Given the description of an element on the screen output the (x, y) to click on. 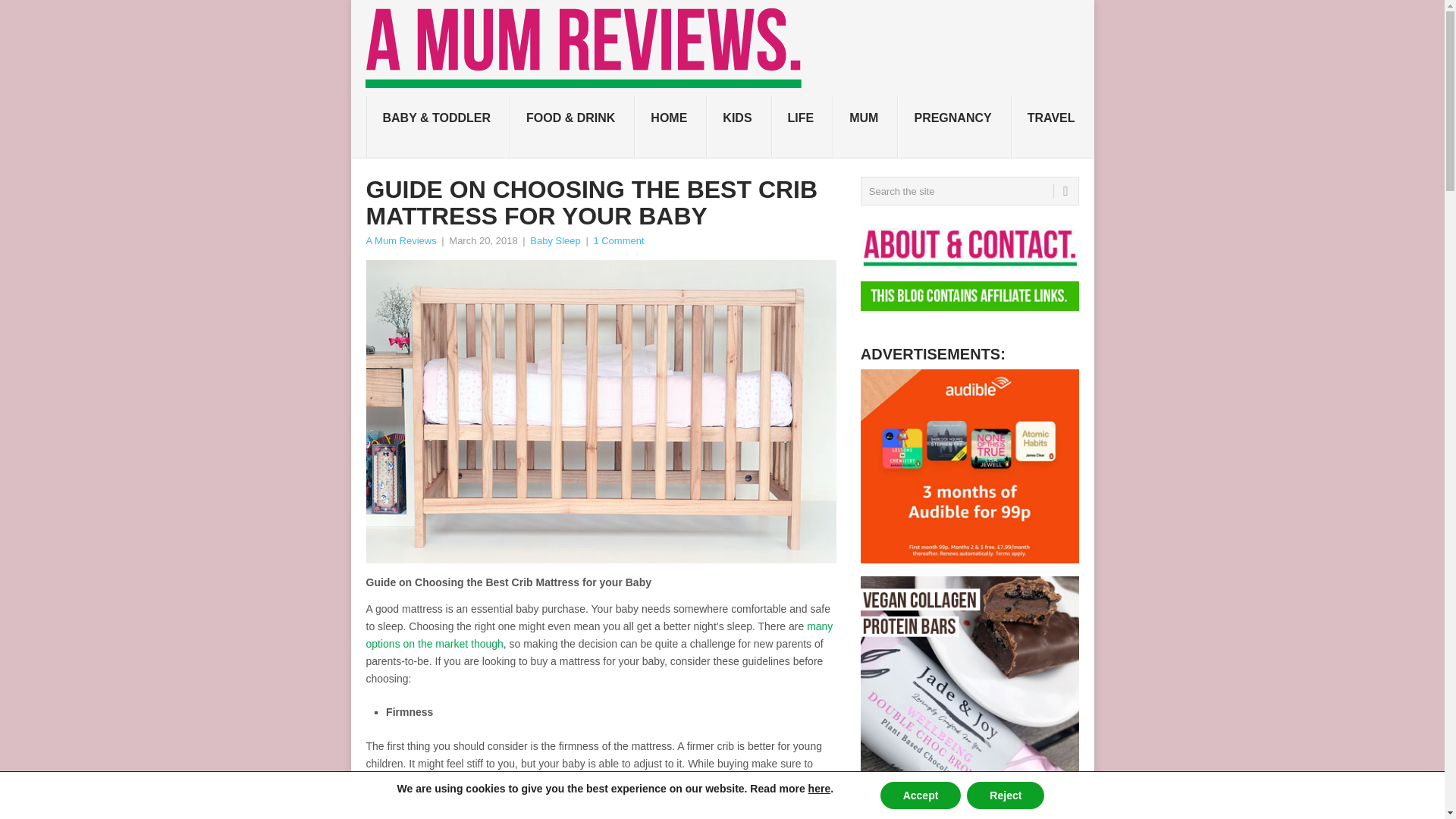
Posts by A Mum Reviews (400, 240)
HOME (670, 127)
KIDS (738, 127)
Search the site (969, 190)
